Given the description of an element on the screen output the (x, y) to click on. 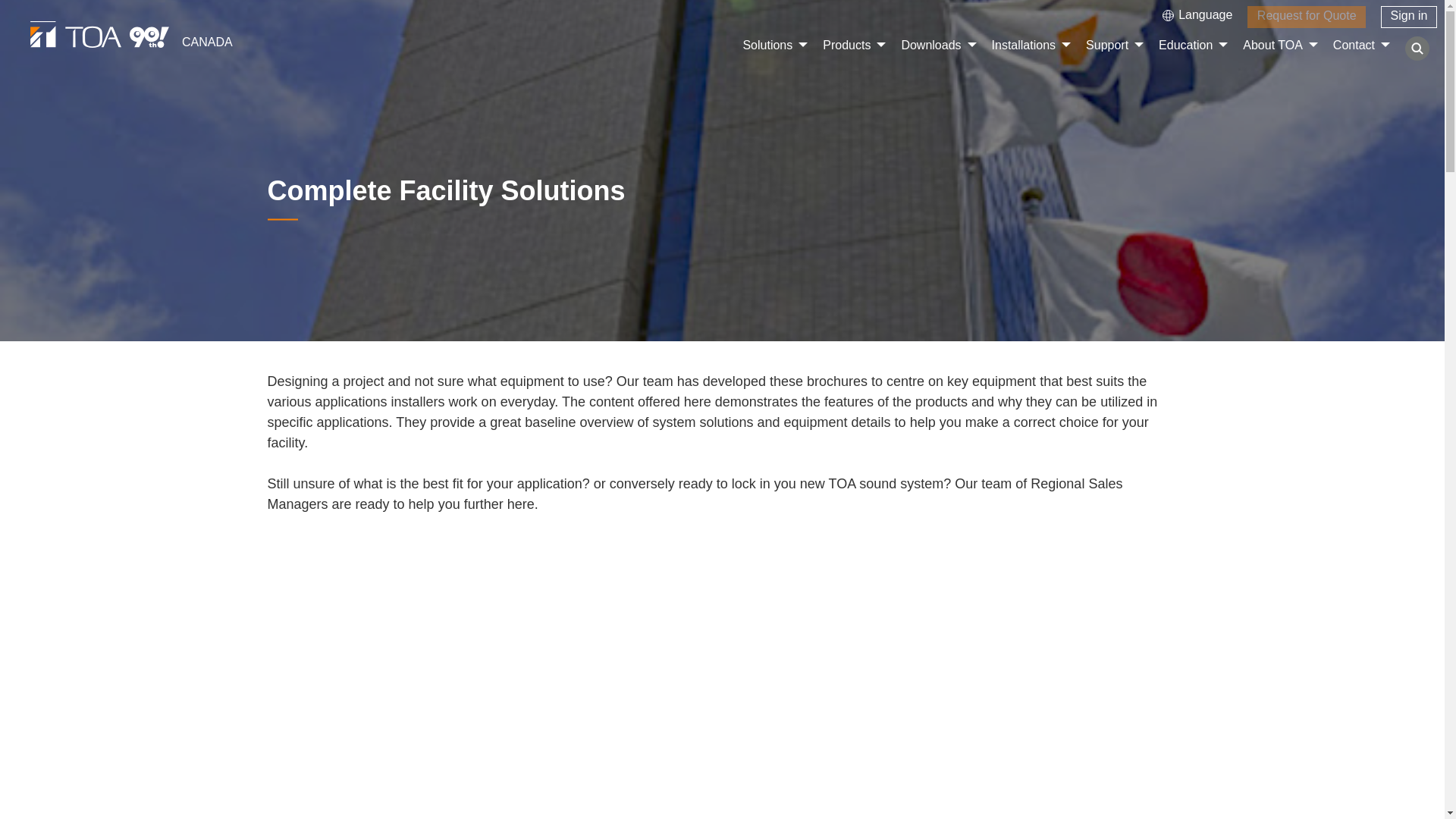
Sign in (1408, 16)
Products (846, 50)
Request for Quote (1306, 16)
Solutions (767, 50)
